Given the description of an element on the screen output the (x, y) to click on. 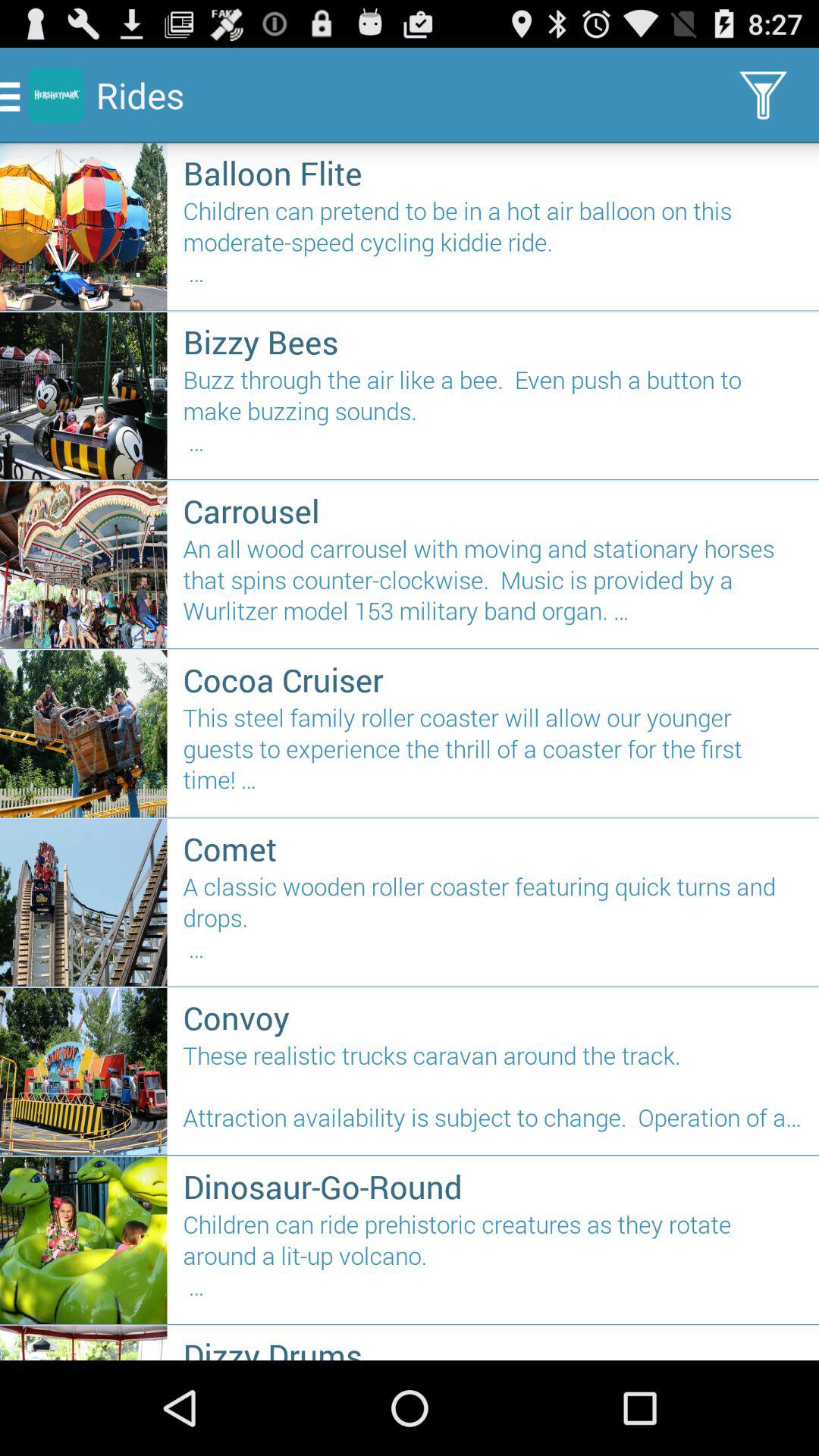
flip to the balloon flite (493, 172)
